Given the description of an element on the screen output the (x, y) to click on. 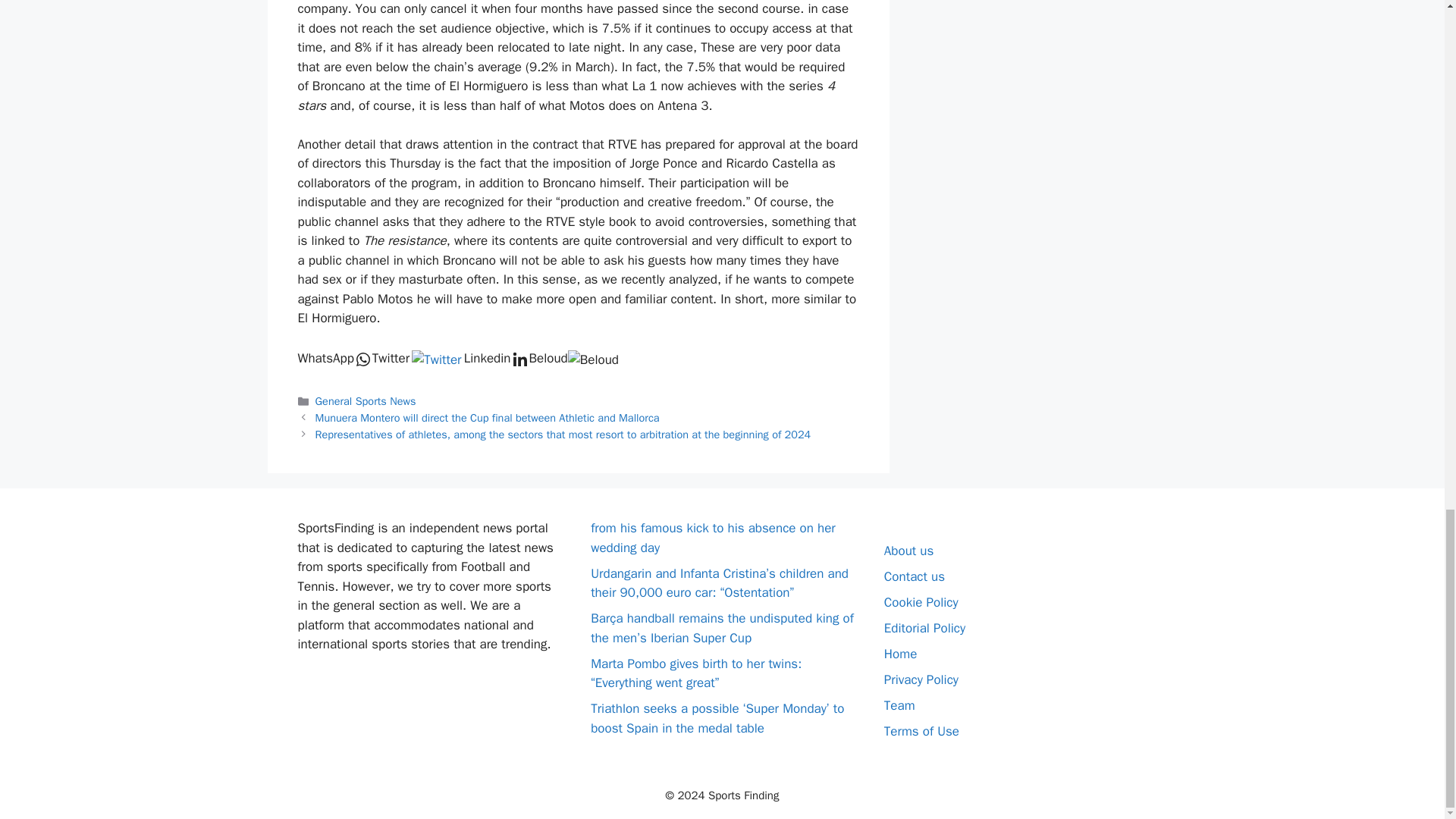
Scroll back to top (1406, 167)
Editorial Policy (924, 627)
General Sports News (365, 400)
from his famous kick to his absence on her wedding day (713, 538)
Contact us (913, 576)
About us (908, 550)
Cookie Policy (920, 602)
